Given the description of an element on the screen output the (x, y) to click on. 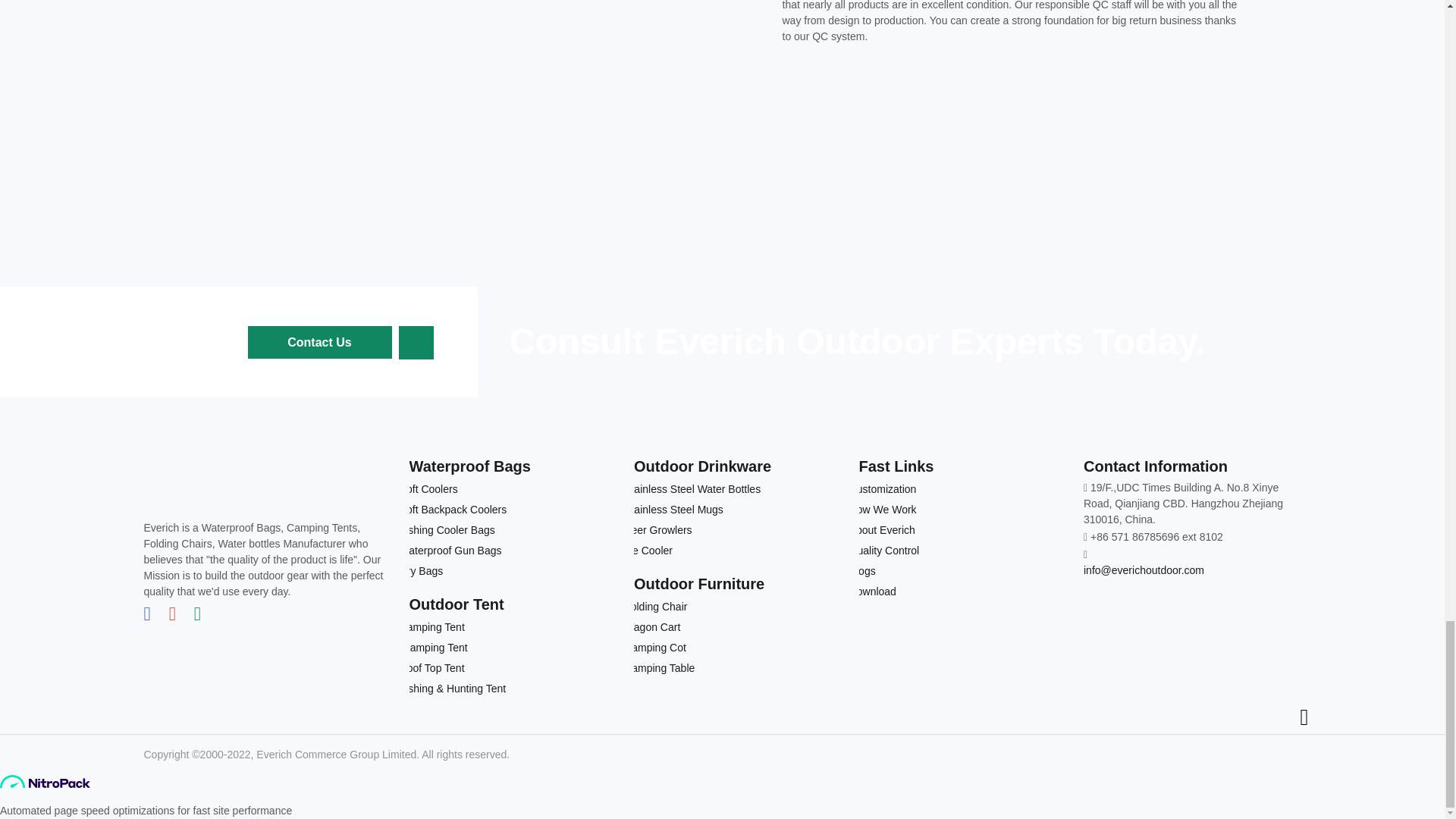
Dry Bags (514, 570)
Roof Top Tent (514, 668)
Soft Coolers (514, 488)
Fishing Cooler Bags (514, 529)
Glamping Tent (514, 647)
Outdoor Tent (514, 604)
Outdoor Drinkware (738, 466)
Camping Tent (514, 627)
Waterproof Gun Bags (514, 550)
Contact Us (319, 341)
